Given the description of an element on the screen output the (x, y) to click on. 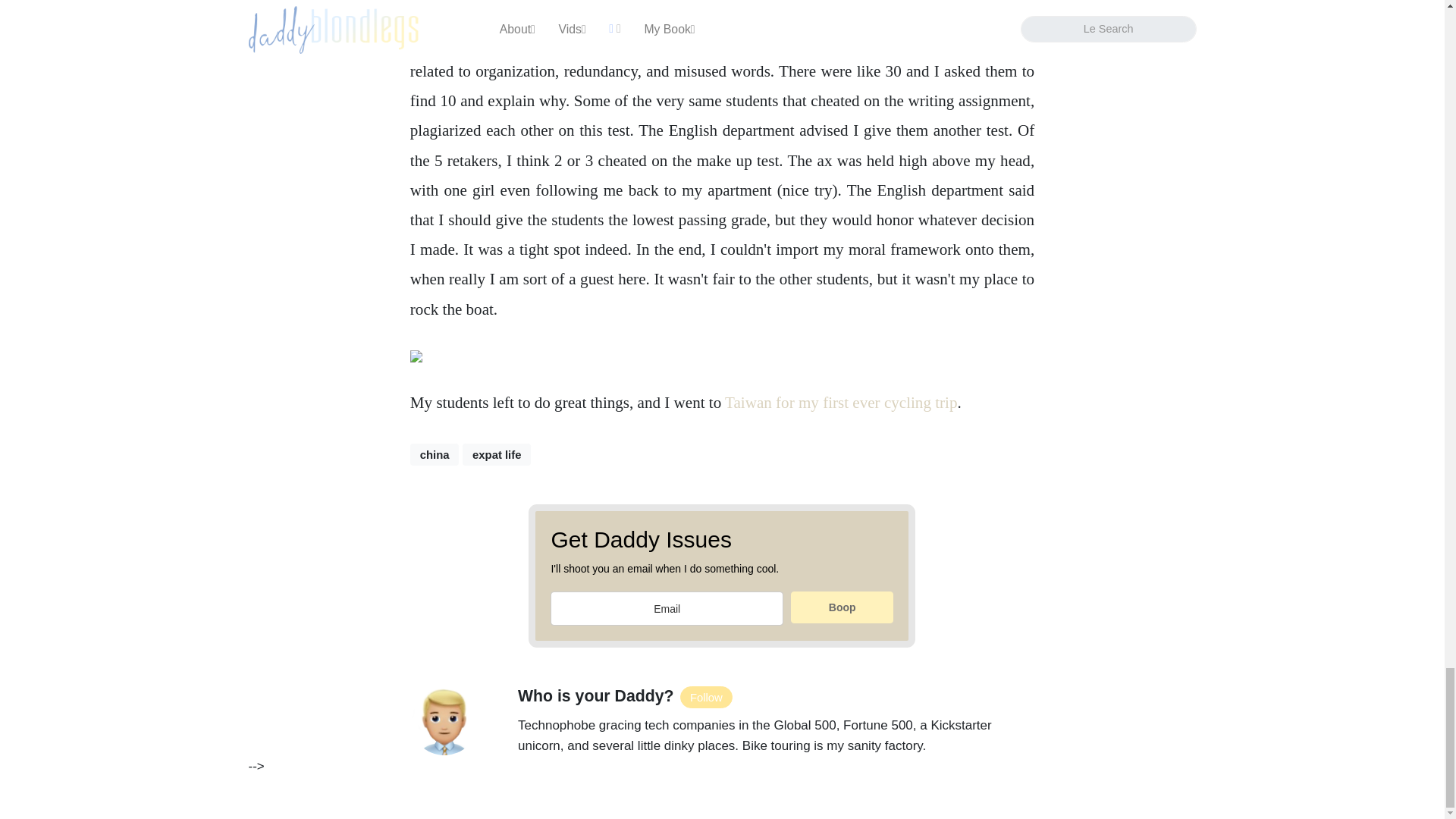
expat life (497, 454)
Boop (841, 607)
Follow (705, 697)
Taiwan for my first ever cycling trip (840, 402)
china (435, 454)
expat life (497, 454)
china (435, 454)
